Given the description of an element on the screen output the (x, y) to click on. 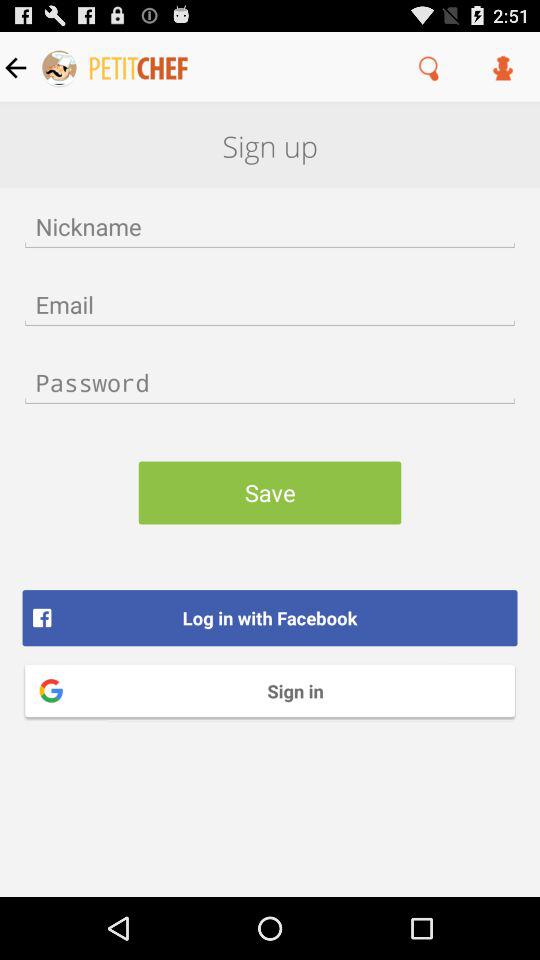
tap the item above the log in with icon (269, 492)
